Given the description of an element on the screen output the (x, y) to click on. 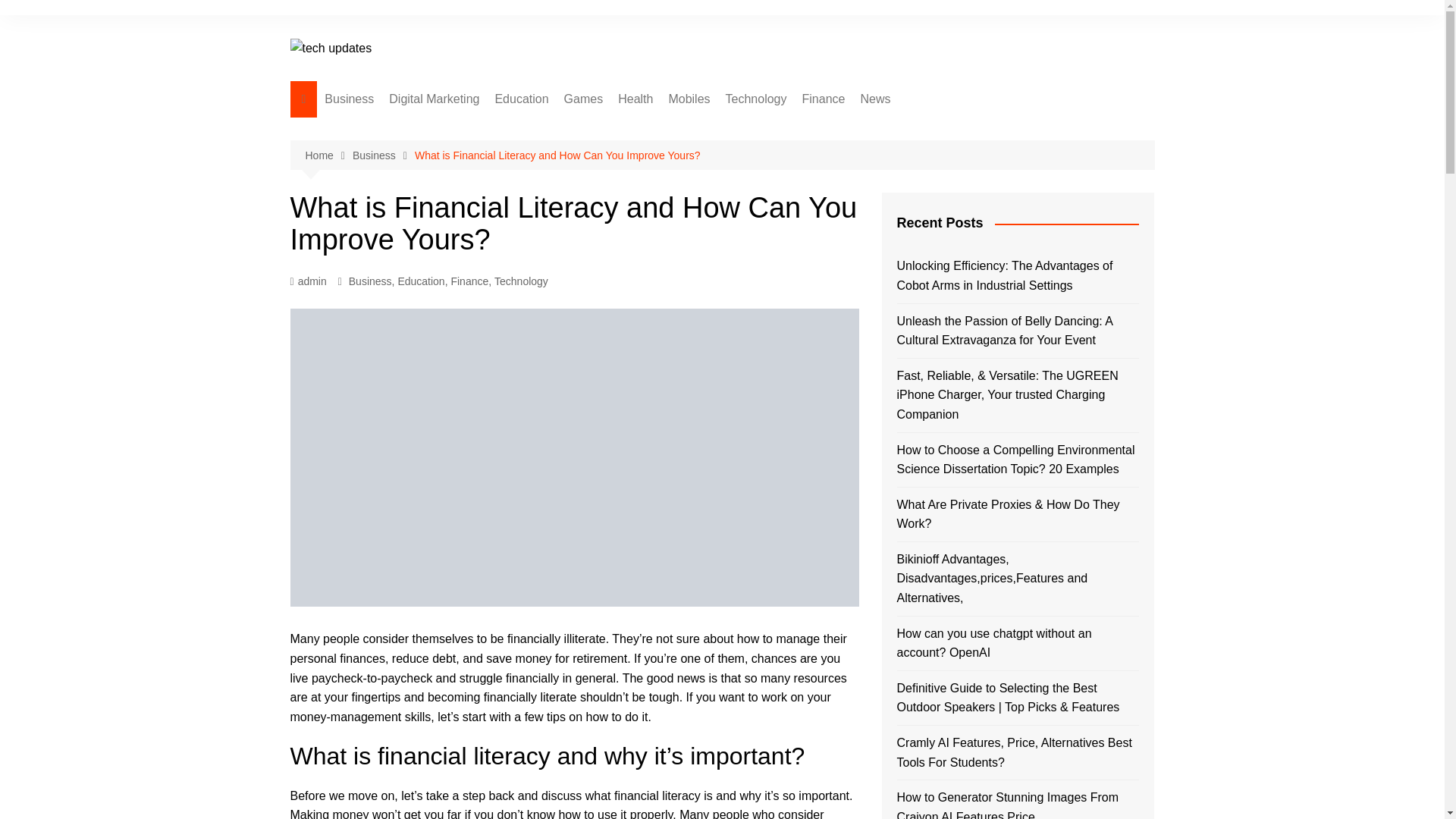
Food (693, 154)
Entertainment (935, 129)
News (874, 99)
Artificial Intelligence (801, 129)
Travel (935, 204)
Business (349, 99)
iOS (744, 154)
Web Designing (400, 154)
Big Data (801, 179)
Books (569, 129)
